Given the description of an element on the screen output the (x, y) to click on. 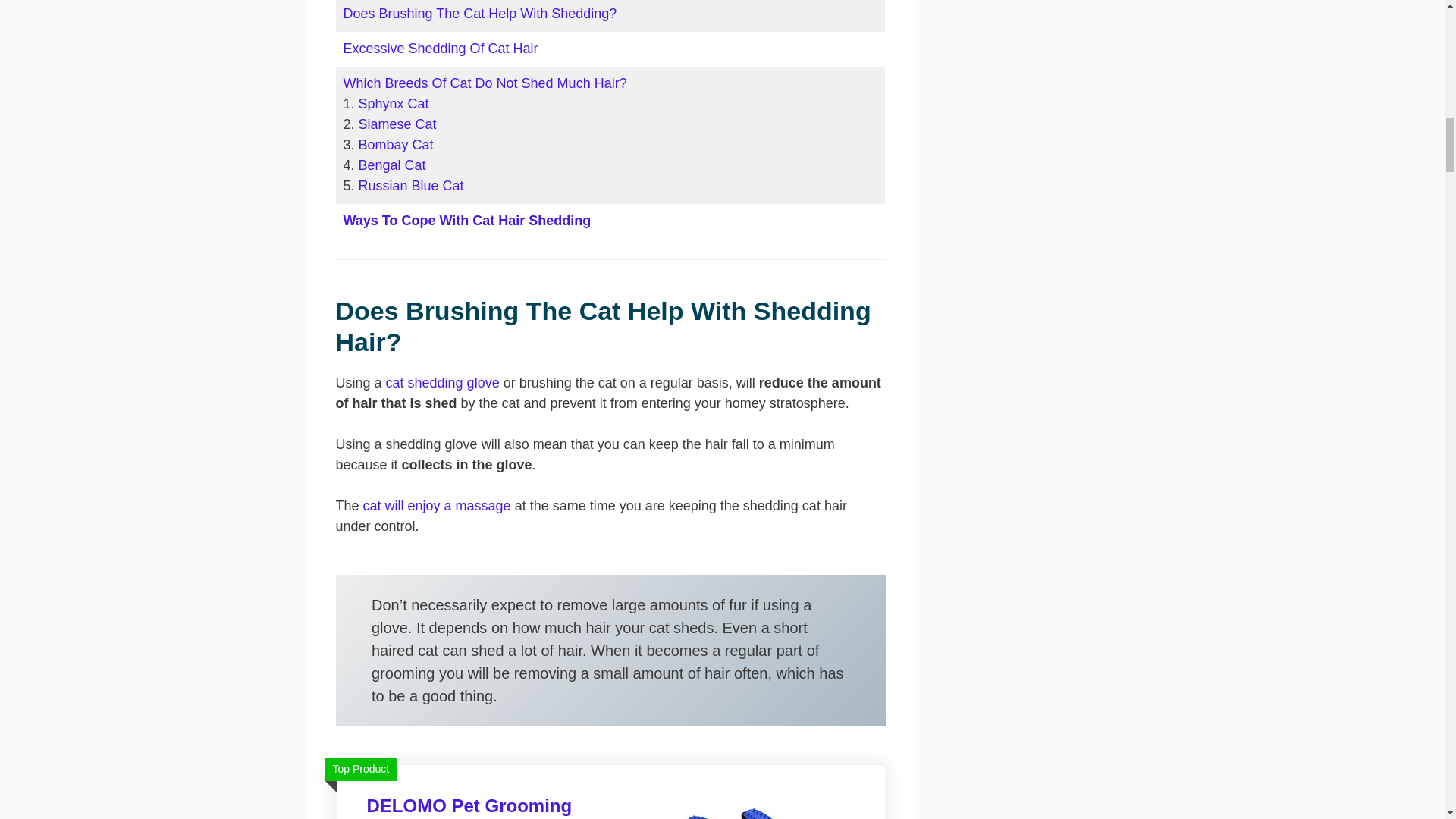
Excessive Shedding Of Cat Hair (439, 48)
Does Brushing The Cat Help With Shedding? (478, 13)
Siamese Cat (397, 124)
. Sphynx Cat (389, 103)
Which Breeds Of Cat Do Not Shed Much Hair? (484, 83)
